Given the description of an element on the screen output the (x, y) to click on. 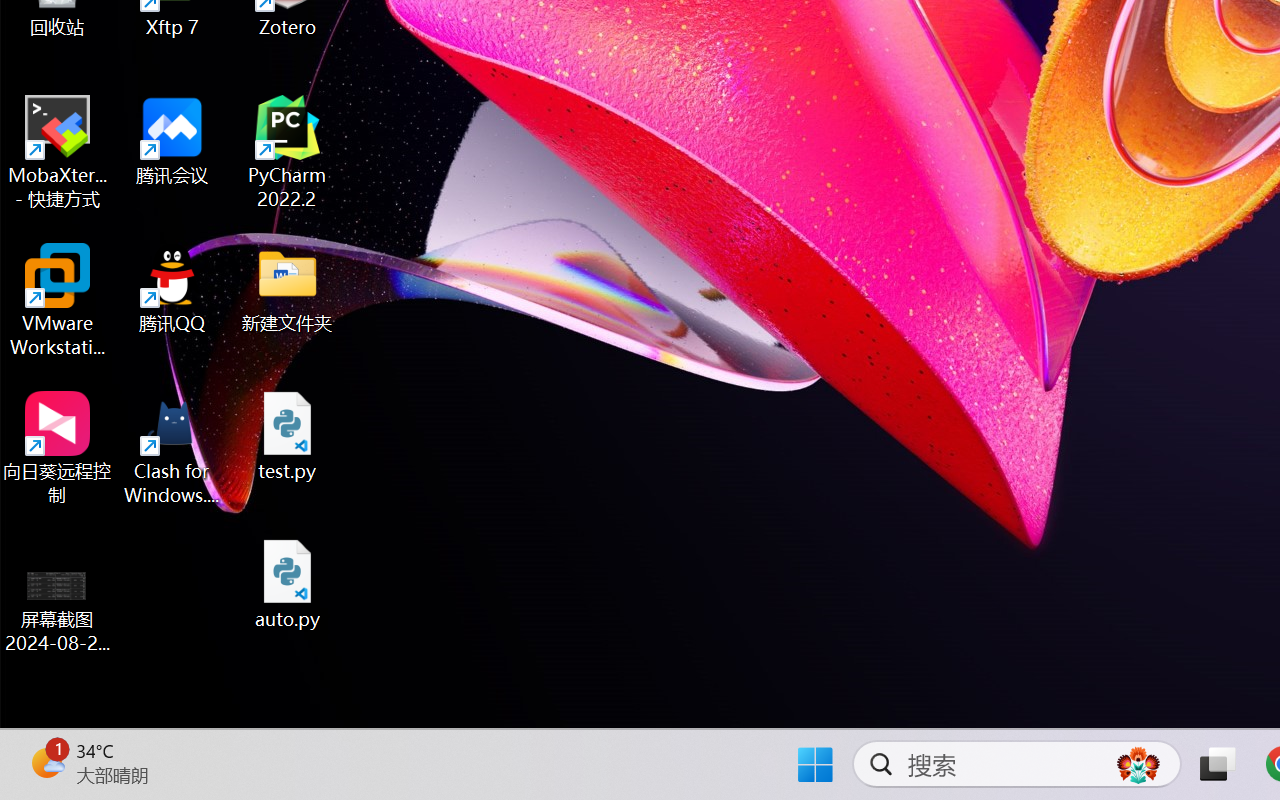
VMware Workstation Pro (57, 300)
PyCharm 2022.2 (287, 152)
test.py (287, 436)
